Given the description of an element on the screen output the (x, y) to click on. 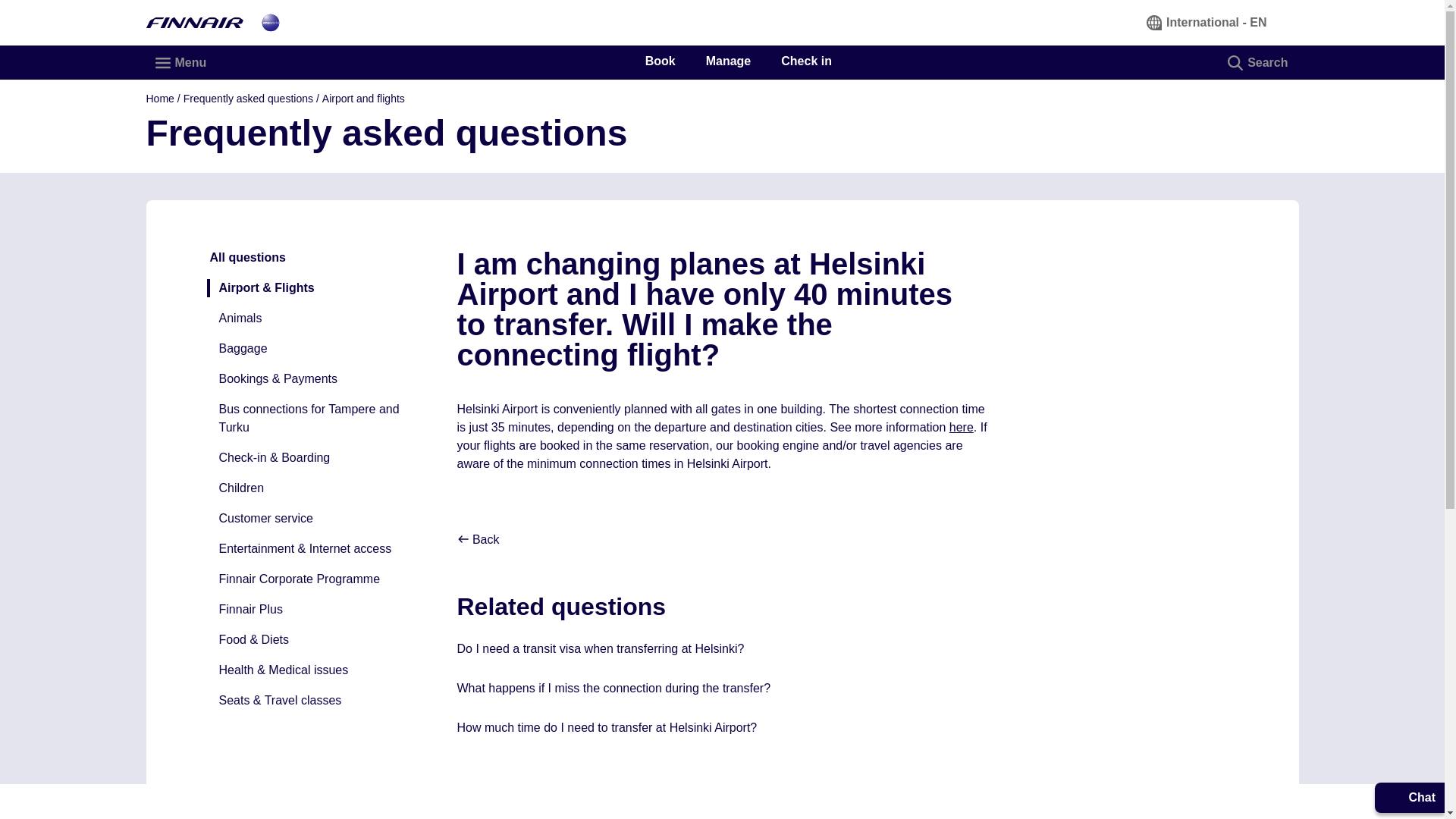
Check in (805, 61)
Manage (728, 61)
Menu (180, 61)
Search (1258, 61)
Book (660, 61)
International - EN (1206, 22)
